Given the description of an element on the screen output the (x, y) to click on. 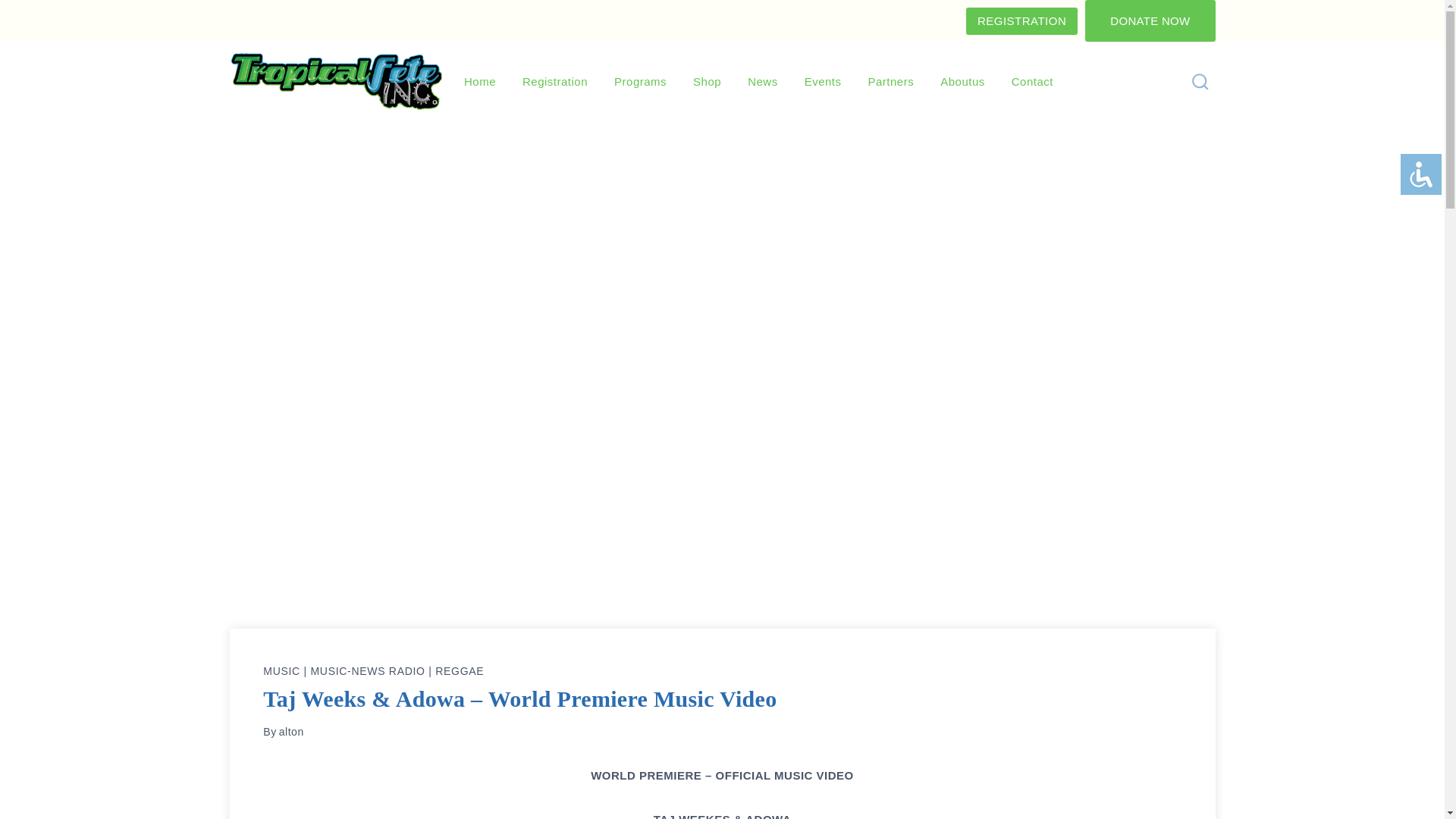
alton (291, 731)
MUSIC-NEWS RADIO (367, 671)
DONATE NOW (1149, 20)
Contact (1031, 81)
Aboutus (962, 81)
Programs (640, 81)
REGISTRATION (1021, 21)
Shop (707, 81)
MUSIC (281, 671)
Home (478, 81)
Registration (555, 81)
News (763, 81)
REGGAE (459, 671)
Events (822, 81)
